Given the description of an element on the screen output the (x, y) to click on. 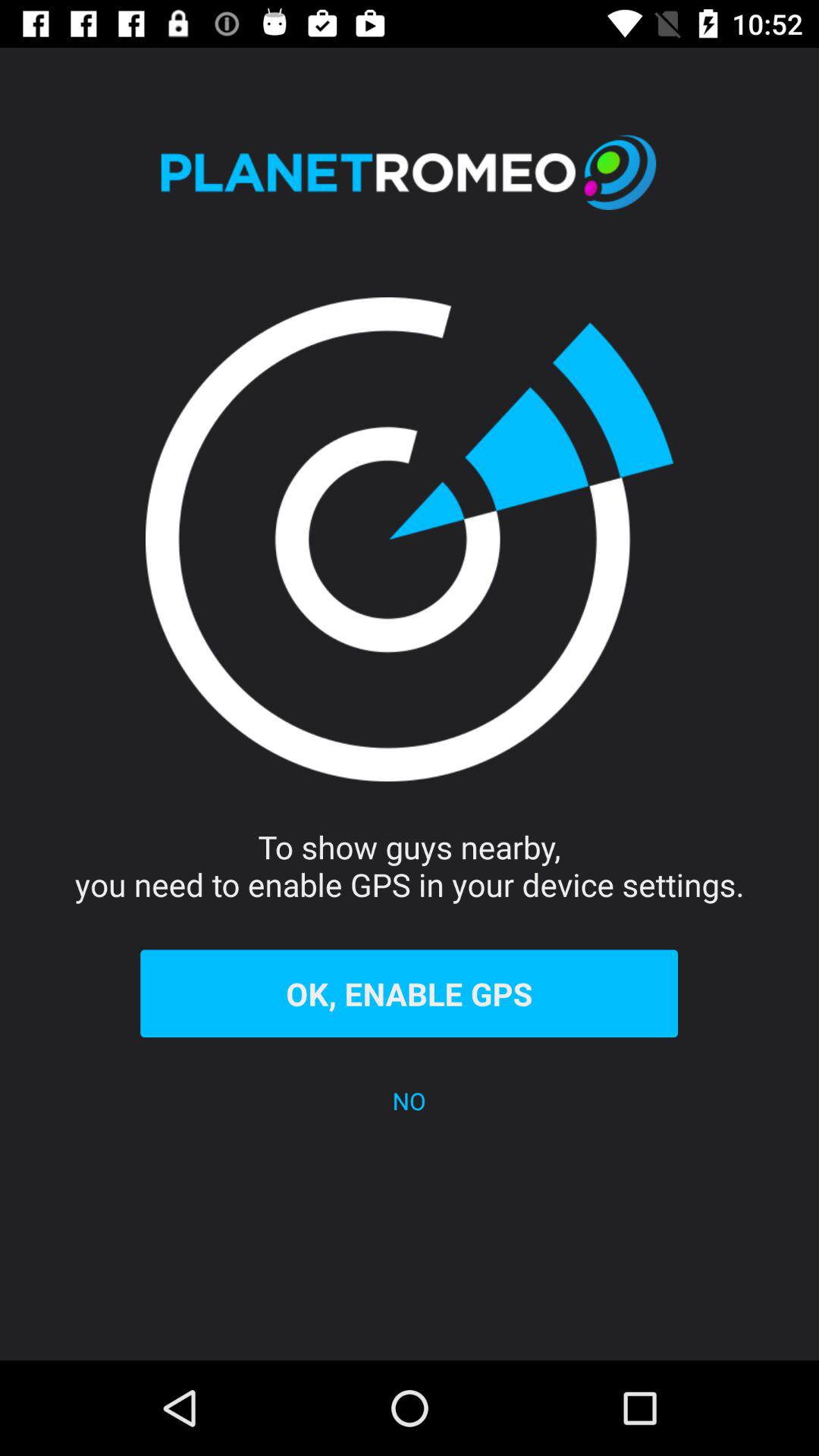
jump until no (408, 1100)
